Given the description of an element on the screen output the (x, y) to click on. 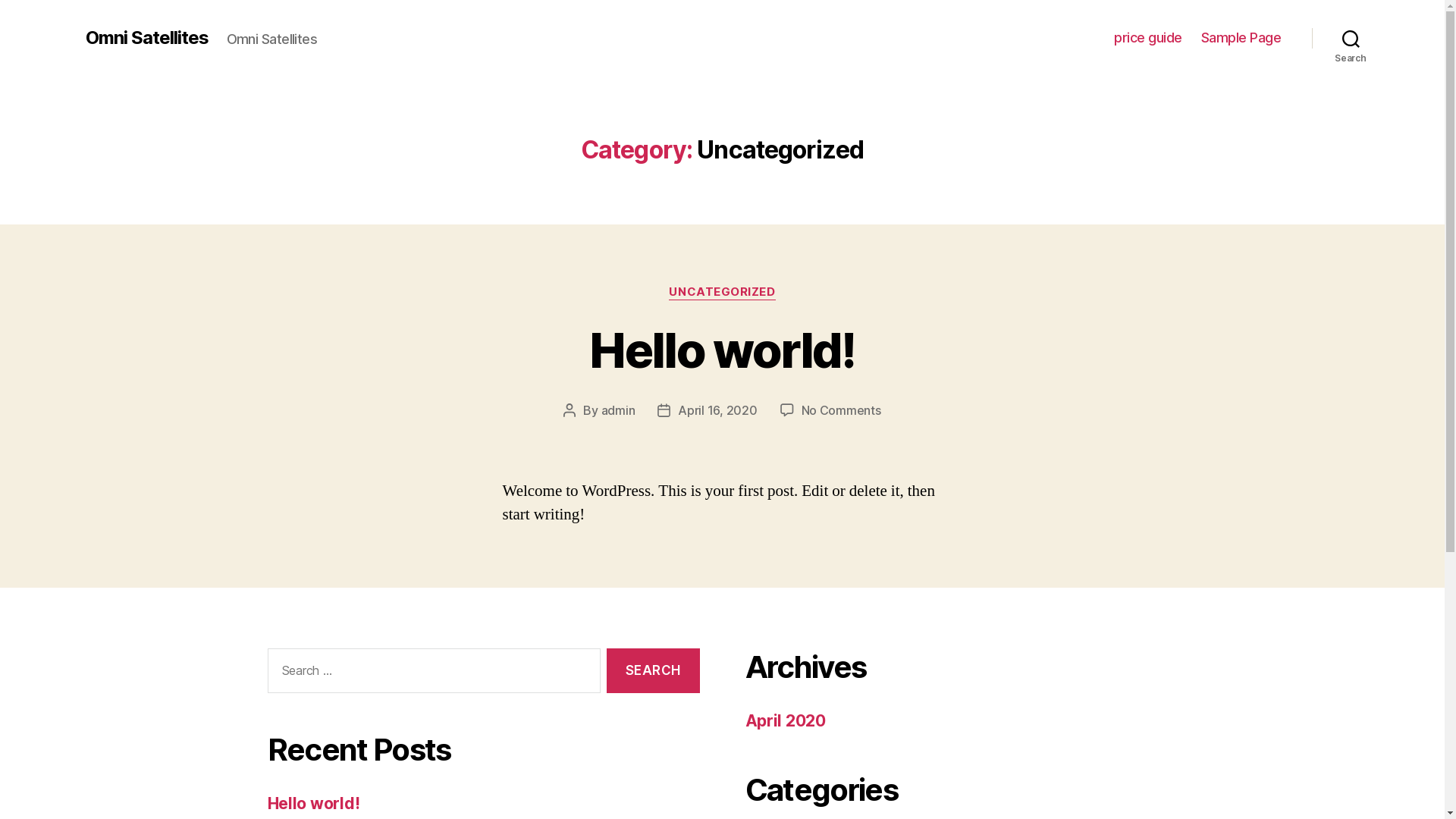
UNCATEGORIZED Element type: text (721, 292)
Search Element type: text (652, 670)
Sample Page Element type: text (1241, 37)
Hello world! Element type: text (721, 349)
admin Element type: text (618, 409)
price guide Element type: text (1147, 37)
Search Element type: text (1350, 37)
April 16, 2020 Element type: text (716, 409)
Omni Satellites Element type: text (145, 37)
Hello world! Element type: text (312, 802)
April 2020 Element type: text (784, 720)
No Comments
on Hello world! Element type: text (841, 409)
